Given the description of an element on the screen output the (x, y) to click on. 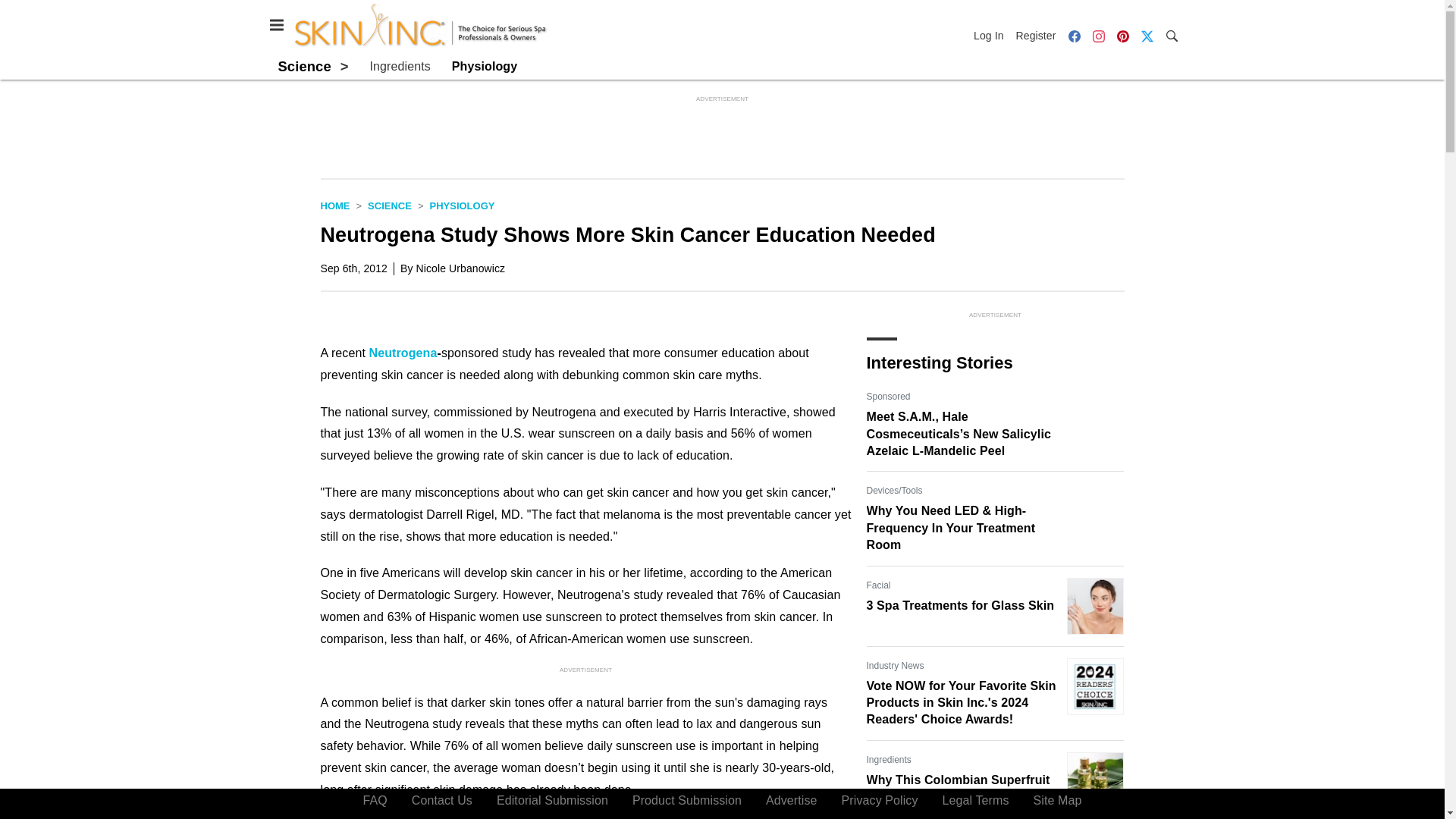
Pinterest icon (1121, 35)
Physiology (483, 66)
Ingredients (399, 66)
Facebook icon (1073, 35)
Twitter X icon (1146, 36)
Search (1170, 34)
Instagram icon (1097, 36)
Home (334, 205)
HOME (334, 205)
Physiology (462, 205)
